Given the description of an element on the screen output the (x, y) to click on. 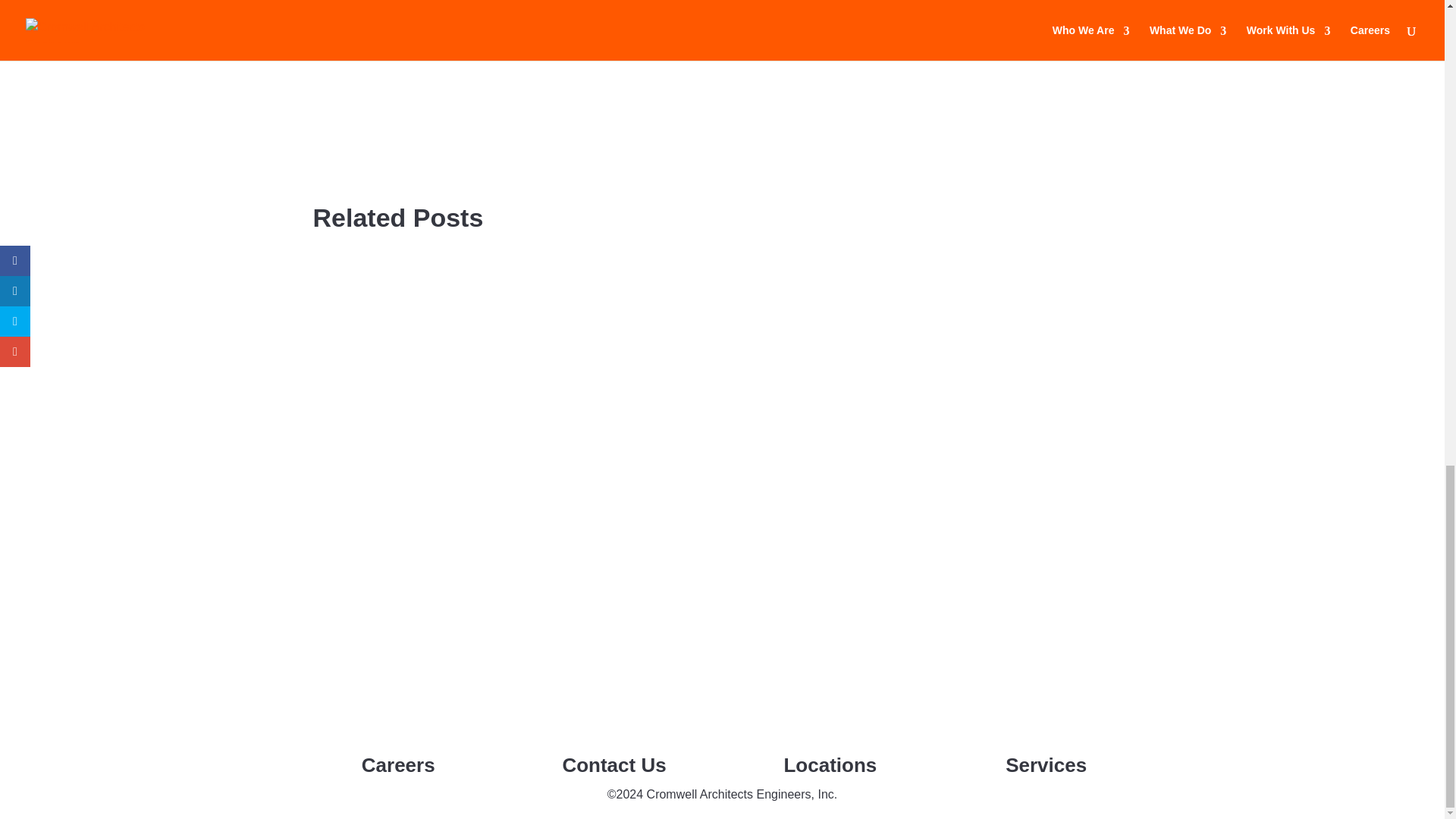
Follow on LinkedIn (751, 736)
Follow on Instagram (721, 736)
Follow on Facebook (691, 736)
